Given the description of an element on the screen output the (x, y) to click on. 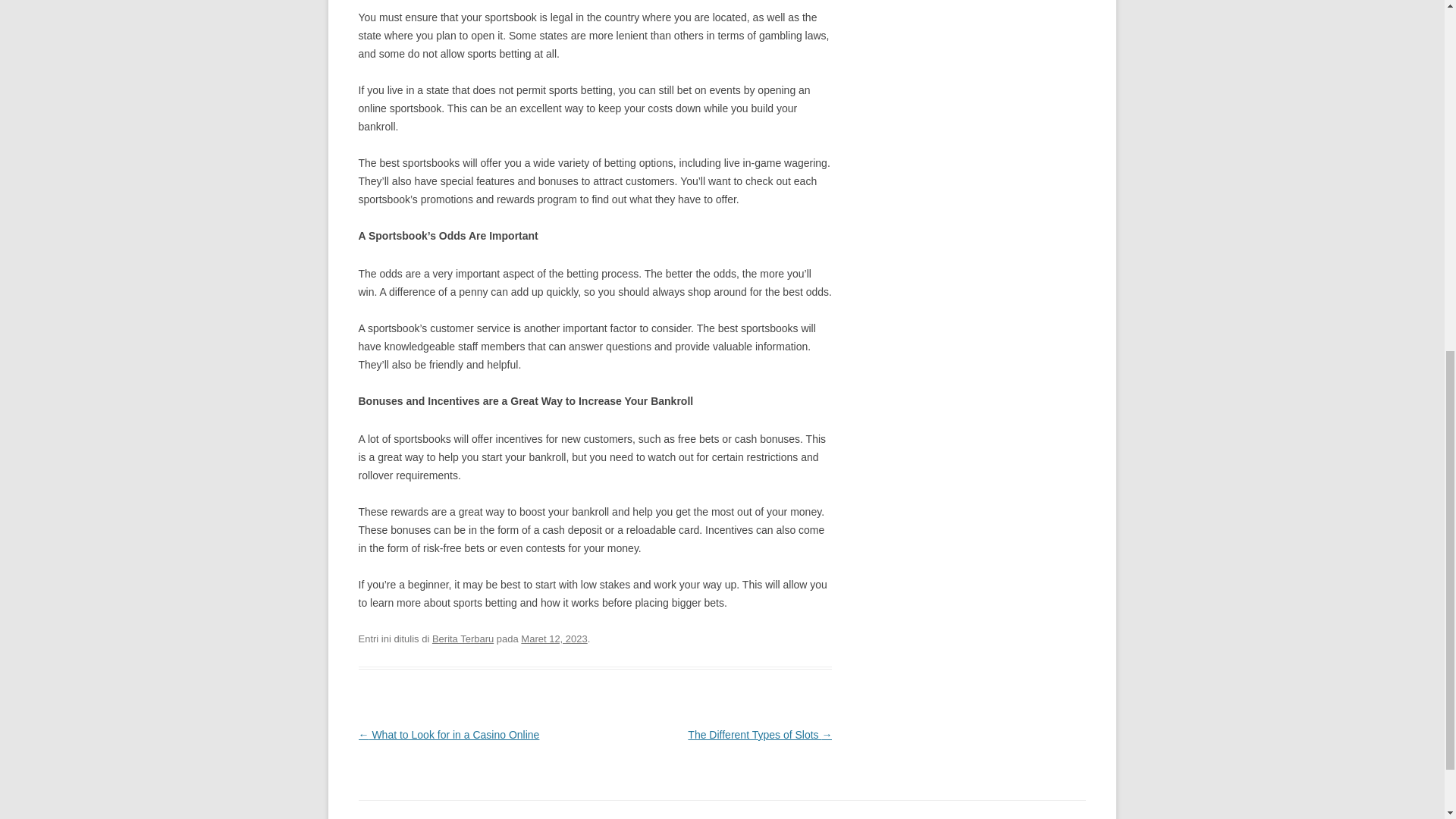
Maret 12, 2023 (553, 638)
2:18 am (553, 638)
Berita Terbaru (462, 638)
